Given the description of an element on the screen output the (x, y) to click on. 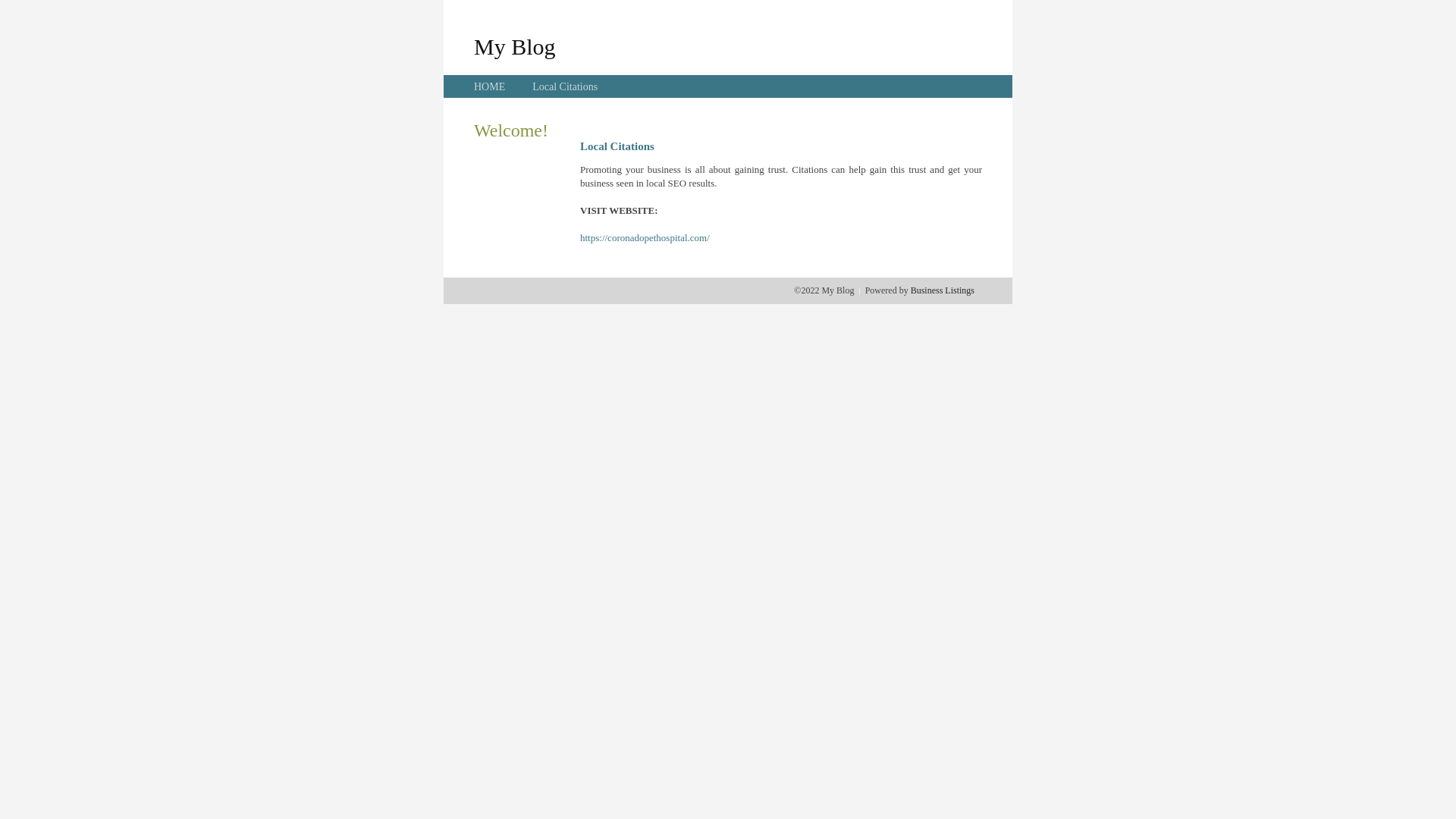
Business Listings Element type: text (942, 290)
HOME Element type: text (489, 86)
My Blog Element type: text (514, 46)
Local Citations Element type: text (564, 86)
https://coronadopethospital.com/ Element type: text (644, 237)
